Given the description of an element on the screen output the (x, y) to click on. 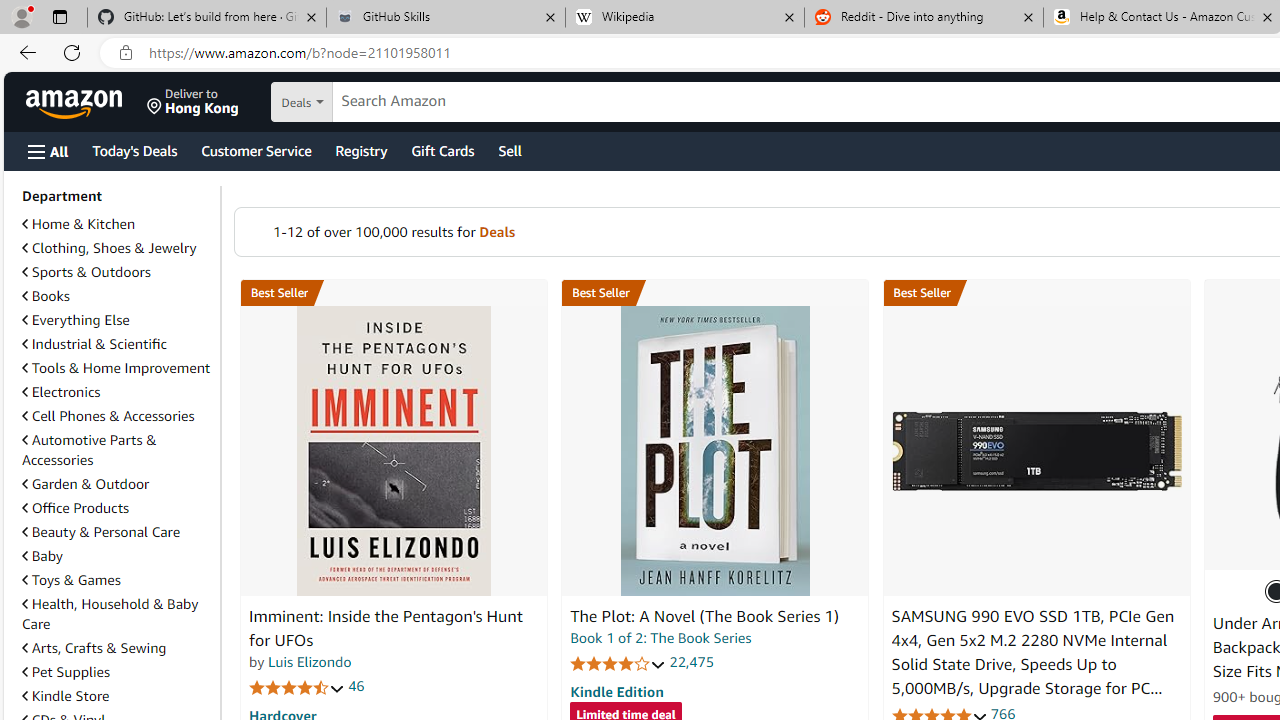
Everything Else (75, 320)
Automotive Parts & Accessories (89, 449)
Industrial & Scientific (94, 343)
Luis Elizondo (309, 662)
Gift Cards (442, 150)
4.7 out of 5 stars (297, 686)
Open Menu (48, 151)
Amazon (76, 101)
Electronics (117, 391)
Pet Supplies (65, 672)
Beauty & Personal Care (100, 531)
Clothing, Shoes & Jewelry (117, 247)
Home & Kitchen (78, 224)
Arts, Crafts & Sewing (93, 647)
The Plot: A Novel (The Book Series 1) (714, 451)
